Given the description of an element on the screen output the (x, y) to click on. 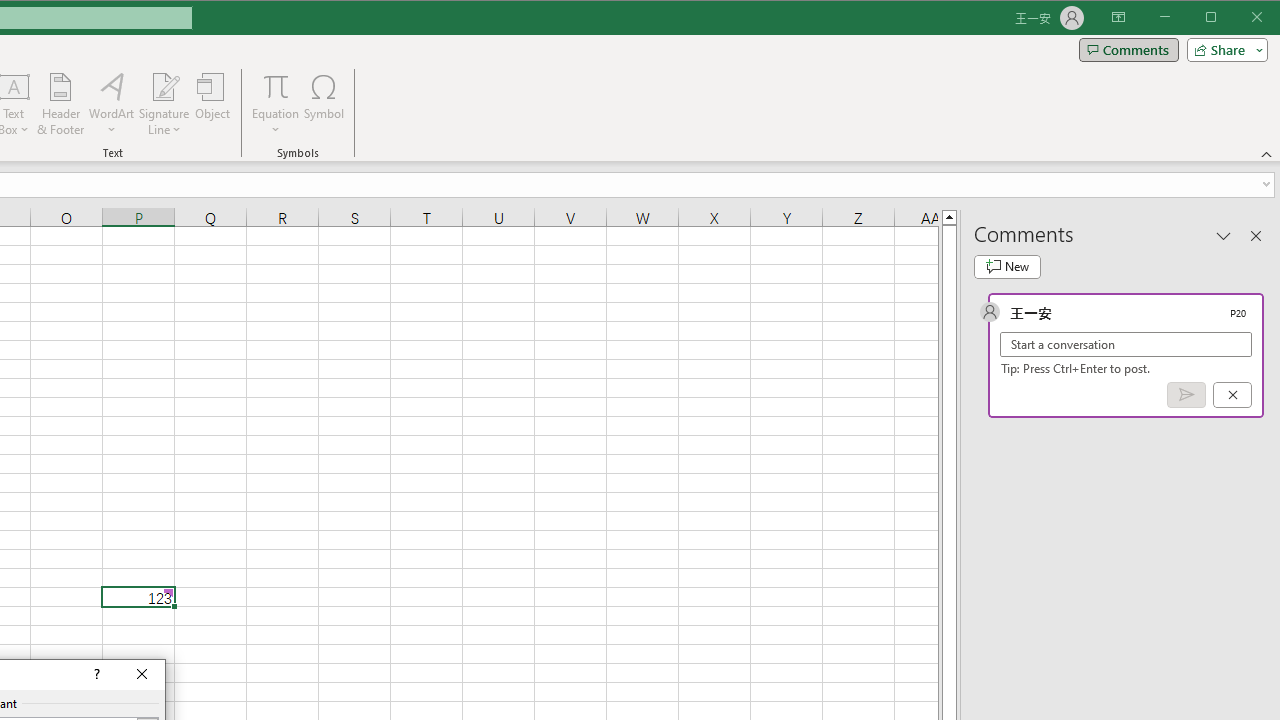
Equation (275, 104)
Signature Line (164, 104)
Post comment (Ctrl + Enter) (1186, 395)
WordArt (111, 104)
Header & Footer... (60, 104)
New comment (1007, 266)
Object... (213, 104)
Start a conversation (1126, 344)
